Given the description of an element on the screen output the (x, y) to click on. 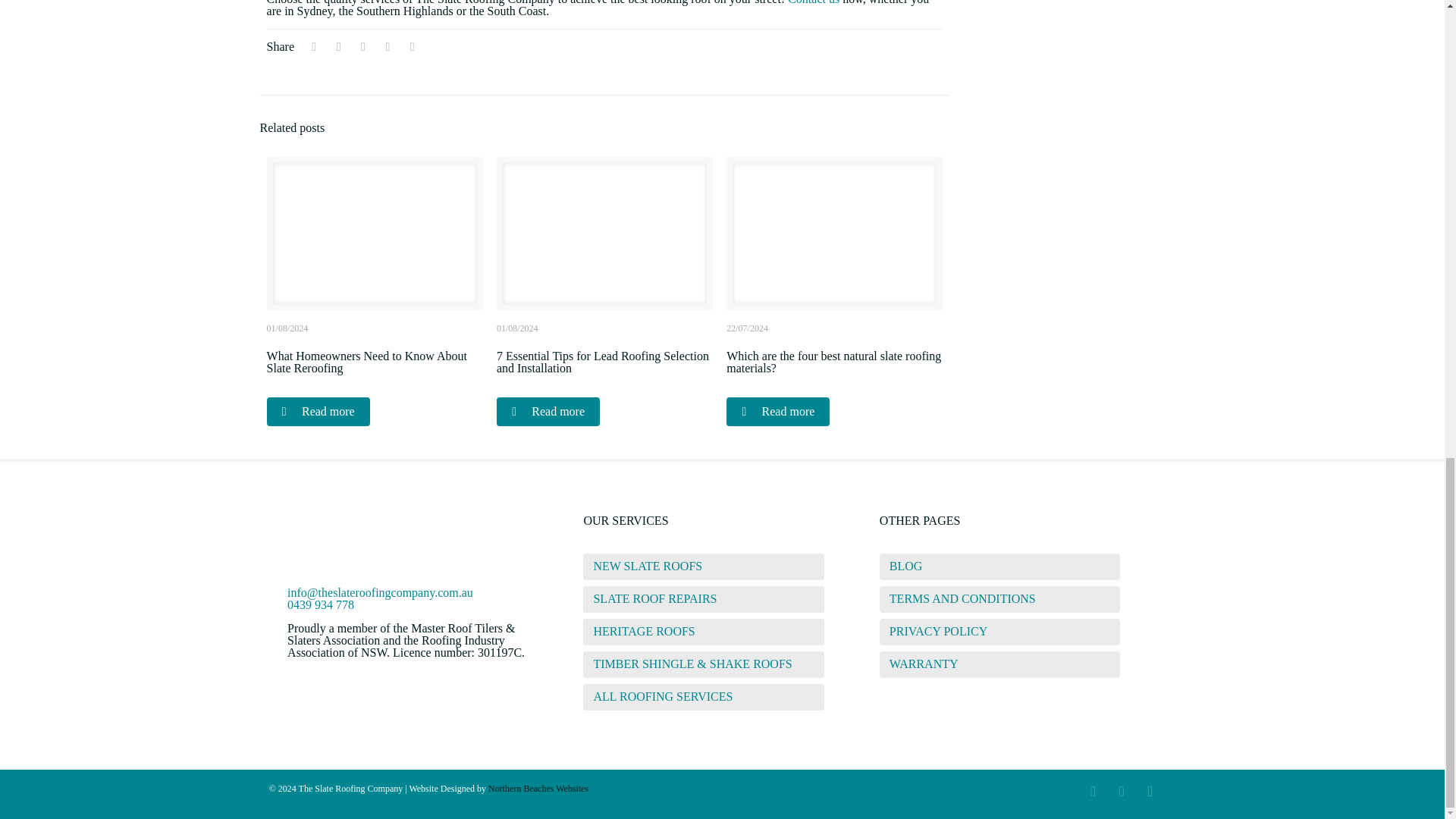
Facebook (1091, 792)
Contact us (813, 2)
Twitter (1120, 792)
Instagram (1148, 792)
